Given the description of an element on the screen output the (x, y) to click on. 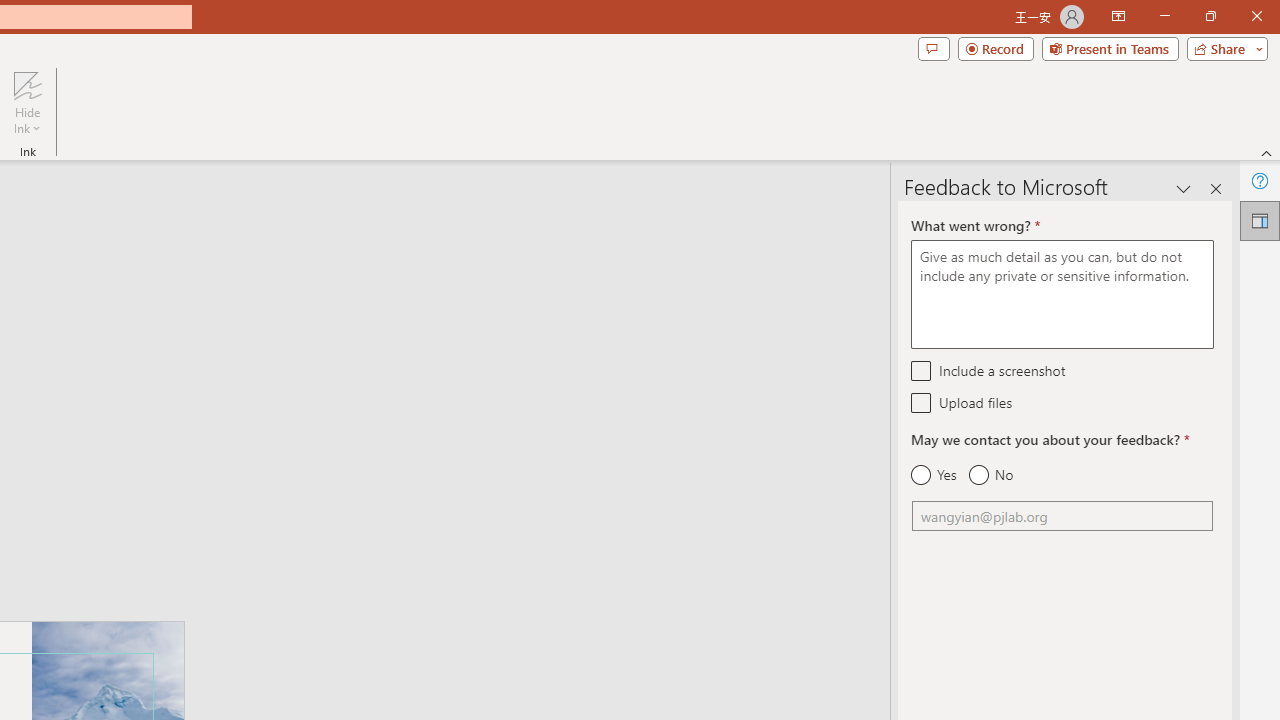
Hide Ink (27, 102)
Task Pane Options (1183, 188)
Upload files (921, 402)
